Given the description of an element on the screen output the (x, y) to click on. 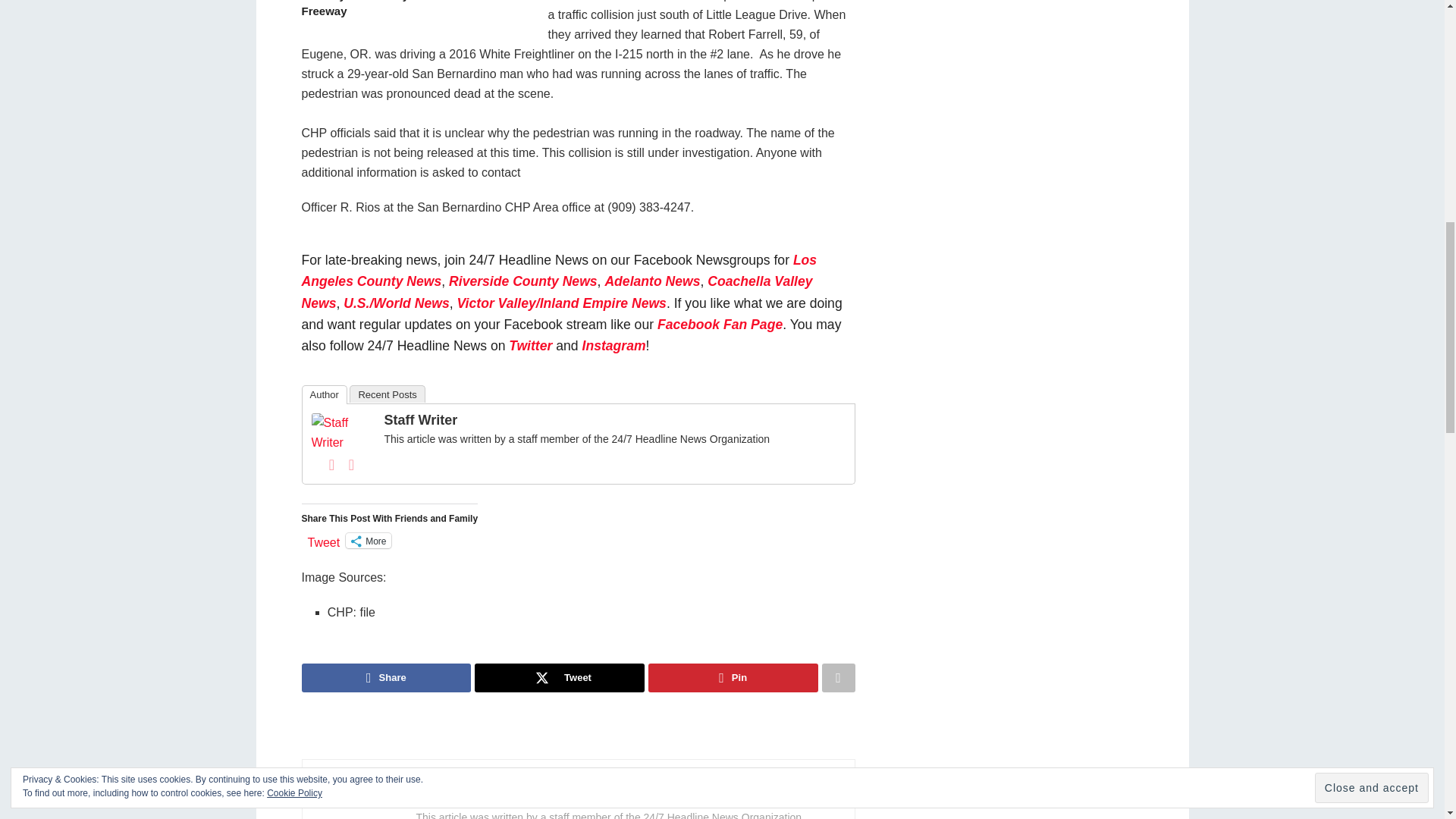
Coachella Valley Facebook News Group (556, 291)
Facebook (331, 464)
Staff Writer (341, 431)
Riverside County News Group (522, 281)
Twitter (351, 464)
Adelanto Facebook Newsgroup (652, 281)
Los Angeles County Facebook News Group (558, 270)
